Given the description of an element on the screen output the (x, y) to click on. 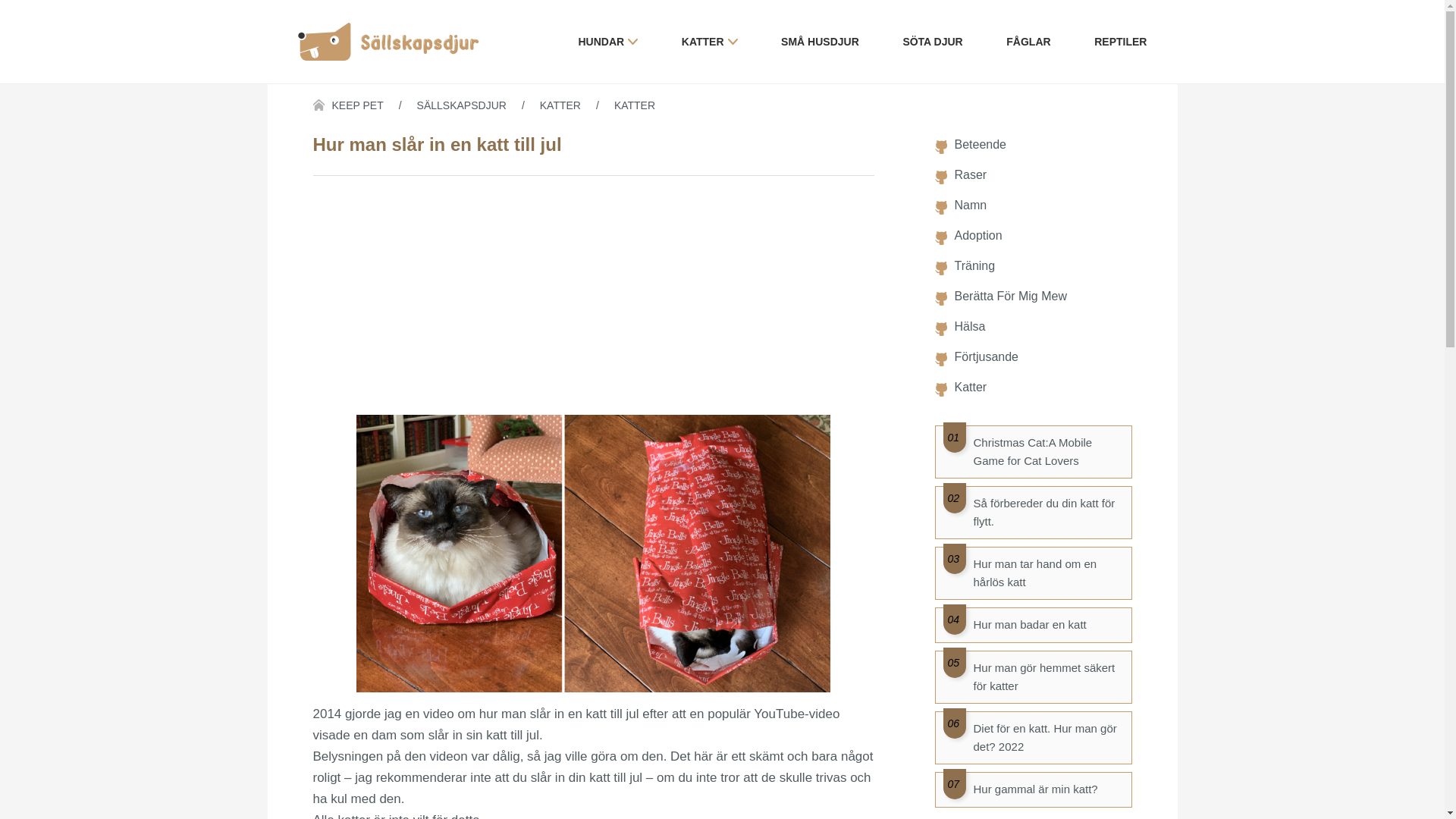
KATTER Element type: text (634, 105)
Raser Element type: text (969, 175)
REPTILER Element type: text (1120, 41)
KEEP PET Element type: text (374, 105)
Namn Element type: text (969, 205)
KATTER Element type: text (576, 105)
HUNDAR Element type: text (607, 41)
KATTER Element type: text (709, 41)
Christmas Cat:A Mobile Game for Cat Lovers Element type: text (1048, 451)
Adoption Element type: text (977, 235)
Katter Element type: text (969, 387)
Beteende Element type: text (979, 144)
Advertisement Element type: hover (592, 297)
Hur man badar en katt Element type: text (1048, 624)
